Given the description of an element on the screen output the (x, y) to click on. 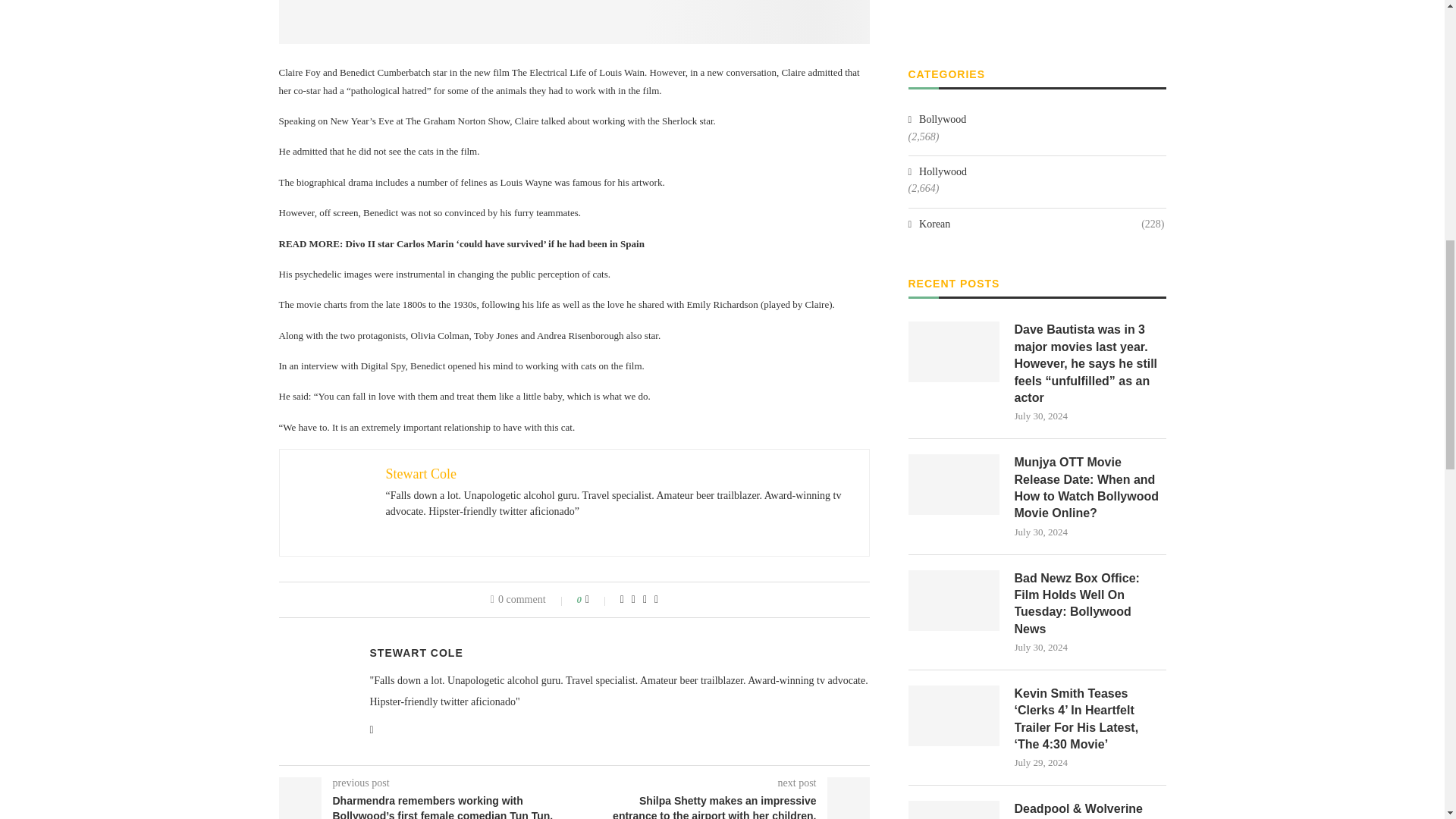
STEWART COLE (416, 653)
Like (597, 599)
Author Stewart Cole (416, 653)
Stewart Cole (420, 473)
